Given the description of an element on the screen output the (x, y) to click on. 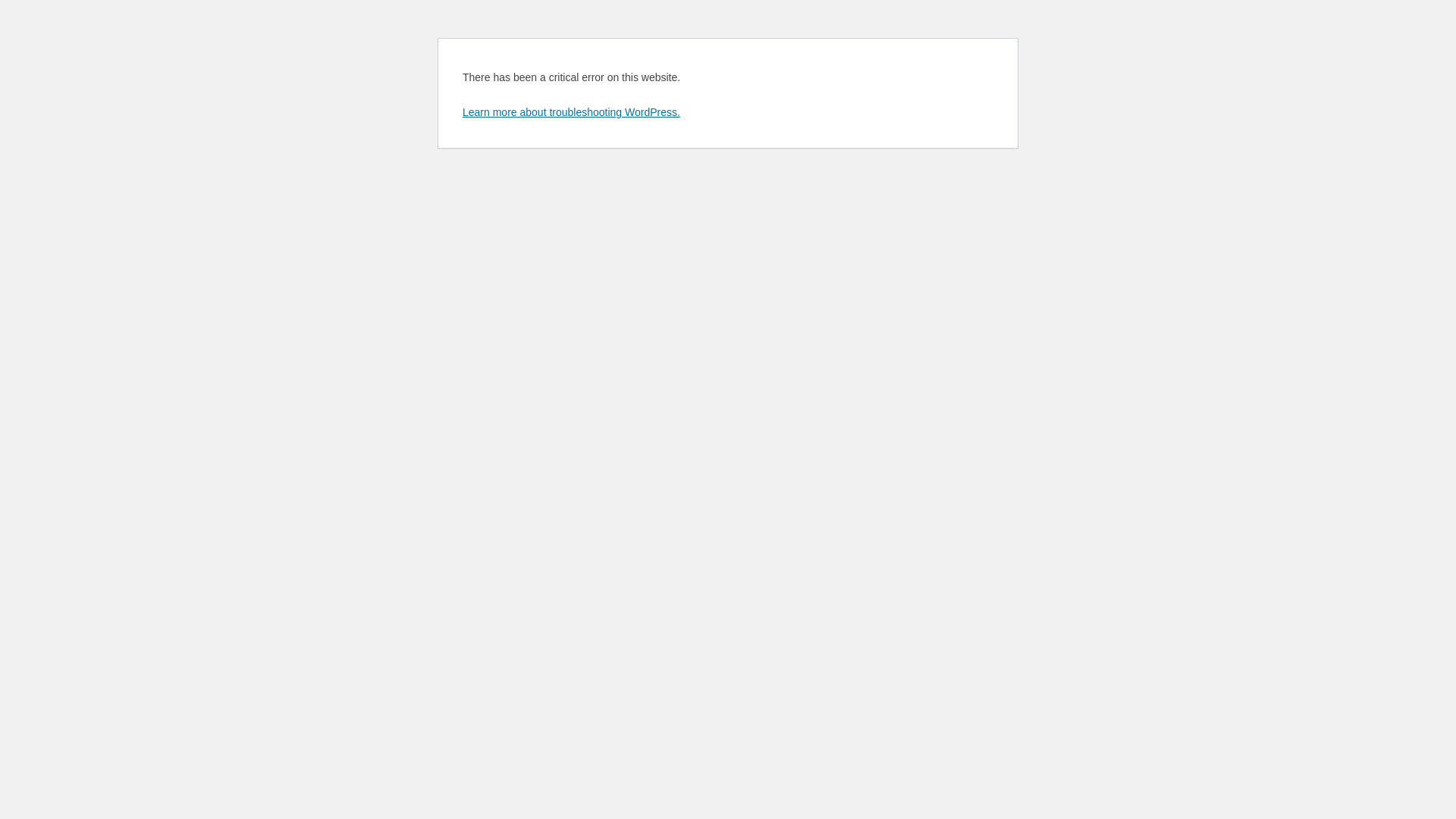
Learn more about troubleshooting WordPress. Element type: text (571, 112)
